Given the description of an element on the screen output the (x, y) to click on. 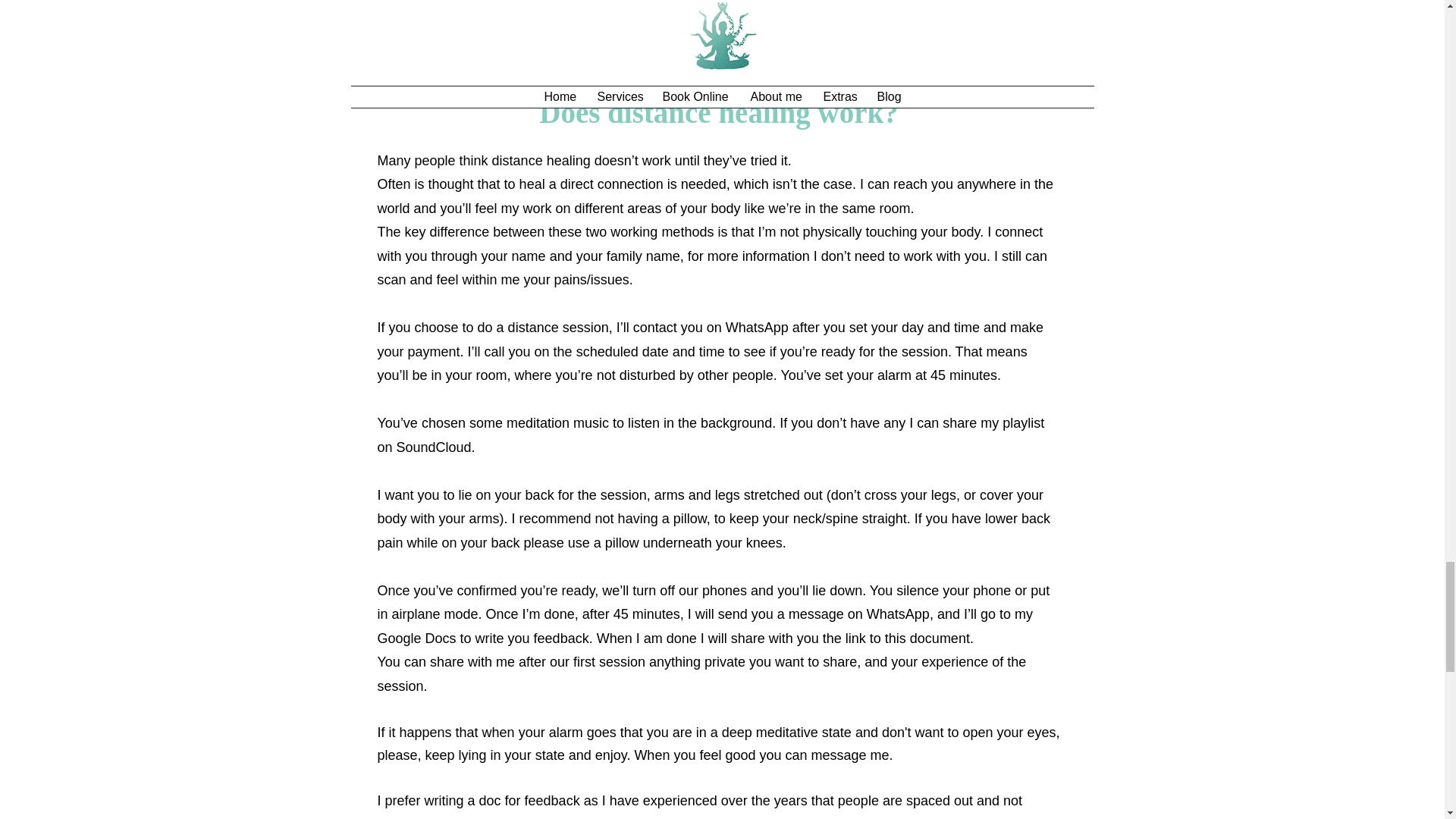
BOOK A SESSION (721, 28)
